Given the description of an element on the screen output the (x, y) to click on. 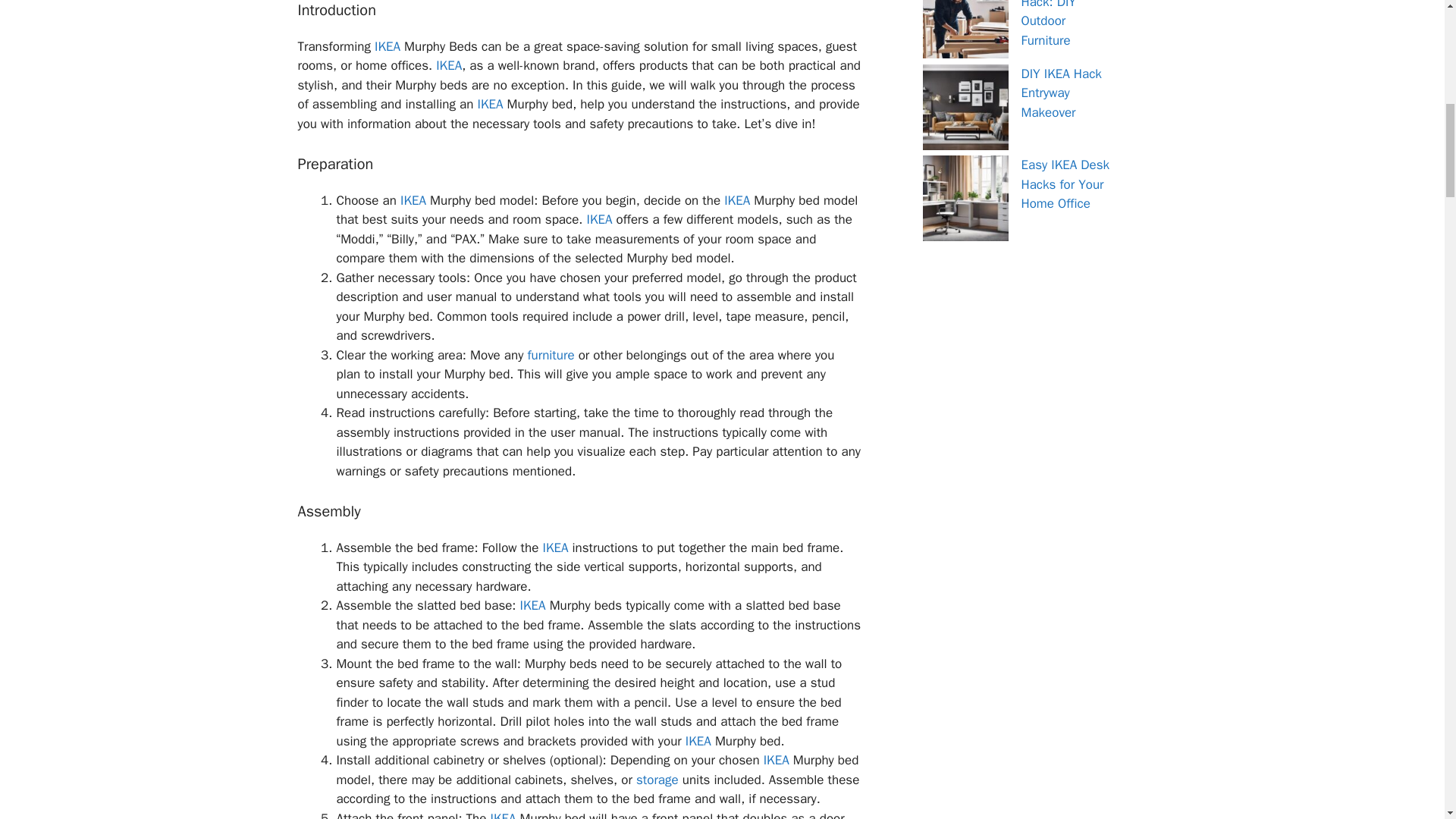
furniture (550, 355)
IKEA (489, 104)
storage (657, 779)
IKEA (554, 547)
IKEA (599, 219)
IKEA (387, 46)
IKEA (413, 200)
IKEA (698, 741)
IKEA (503, 814)
IKEA (775, 760)
